Given the description of an element on the screen output the (x, y) to click on. 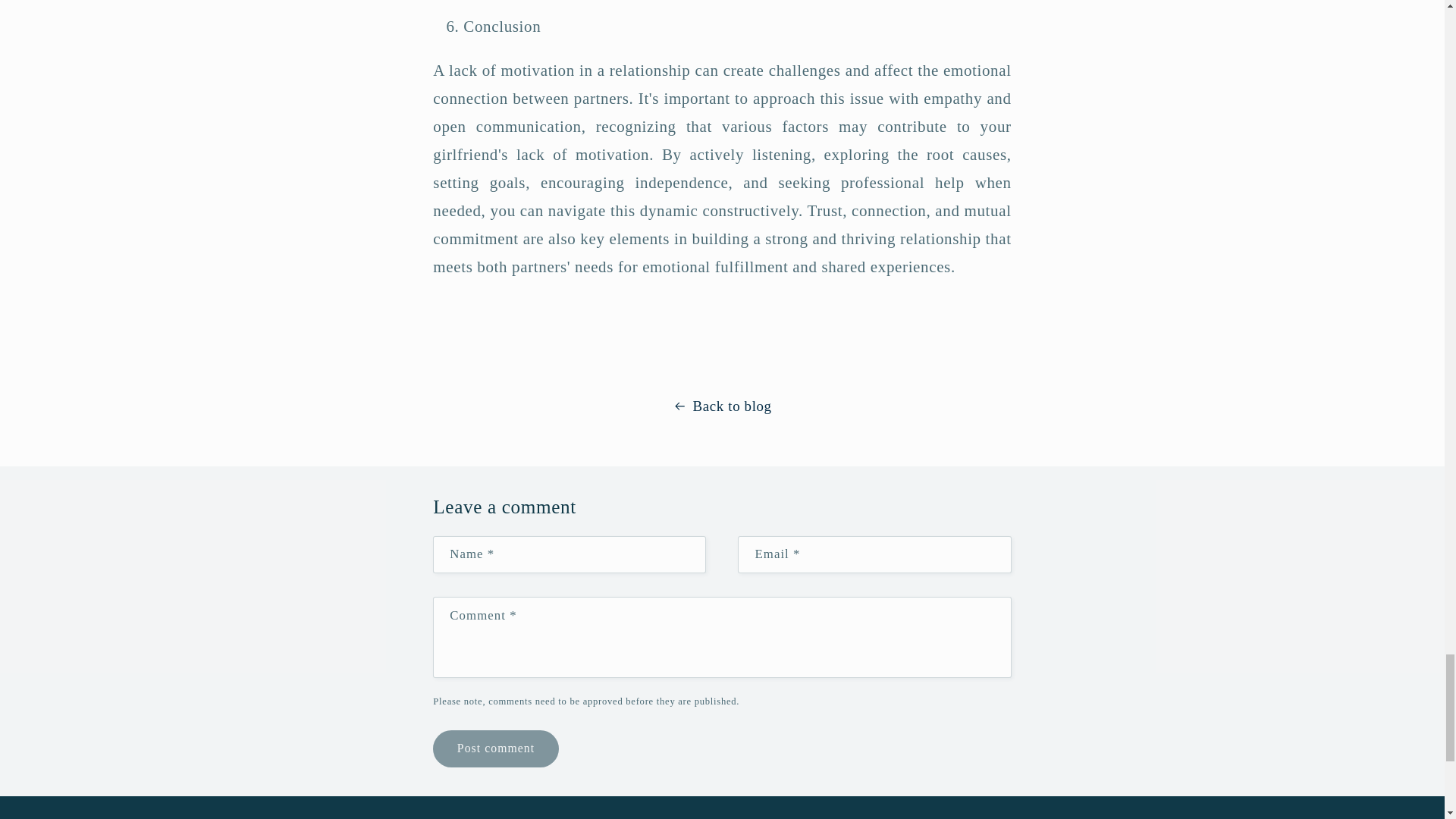
Post comment (494, 748)
Post comment (494, 748)
